Given the description of an element on the screen output the (x, y) to click on. 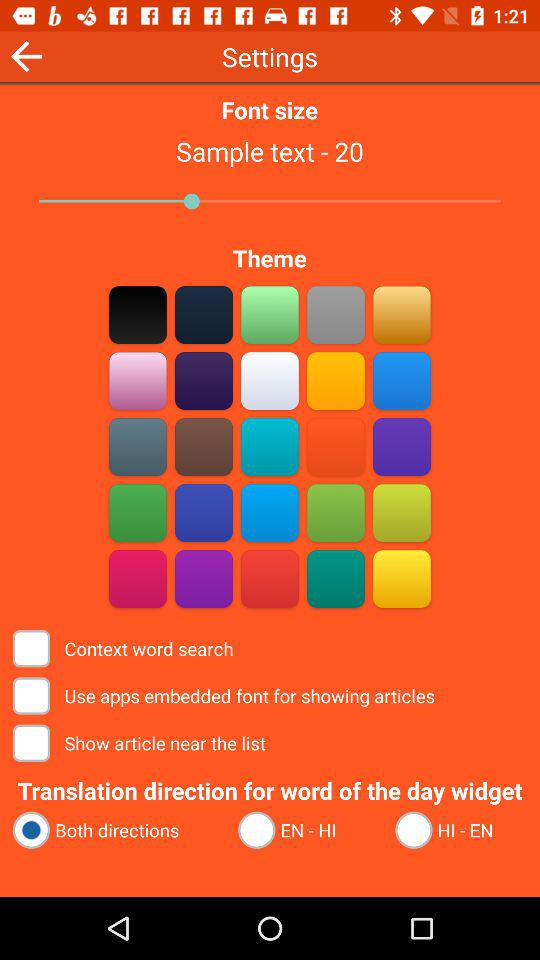
select the show article near icon (141, 742)
